Given the description of an element on the screen output the (x, y) to click on. 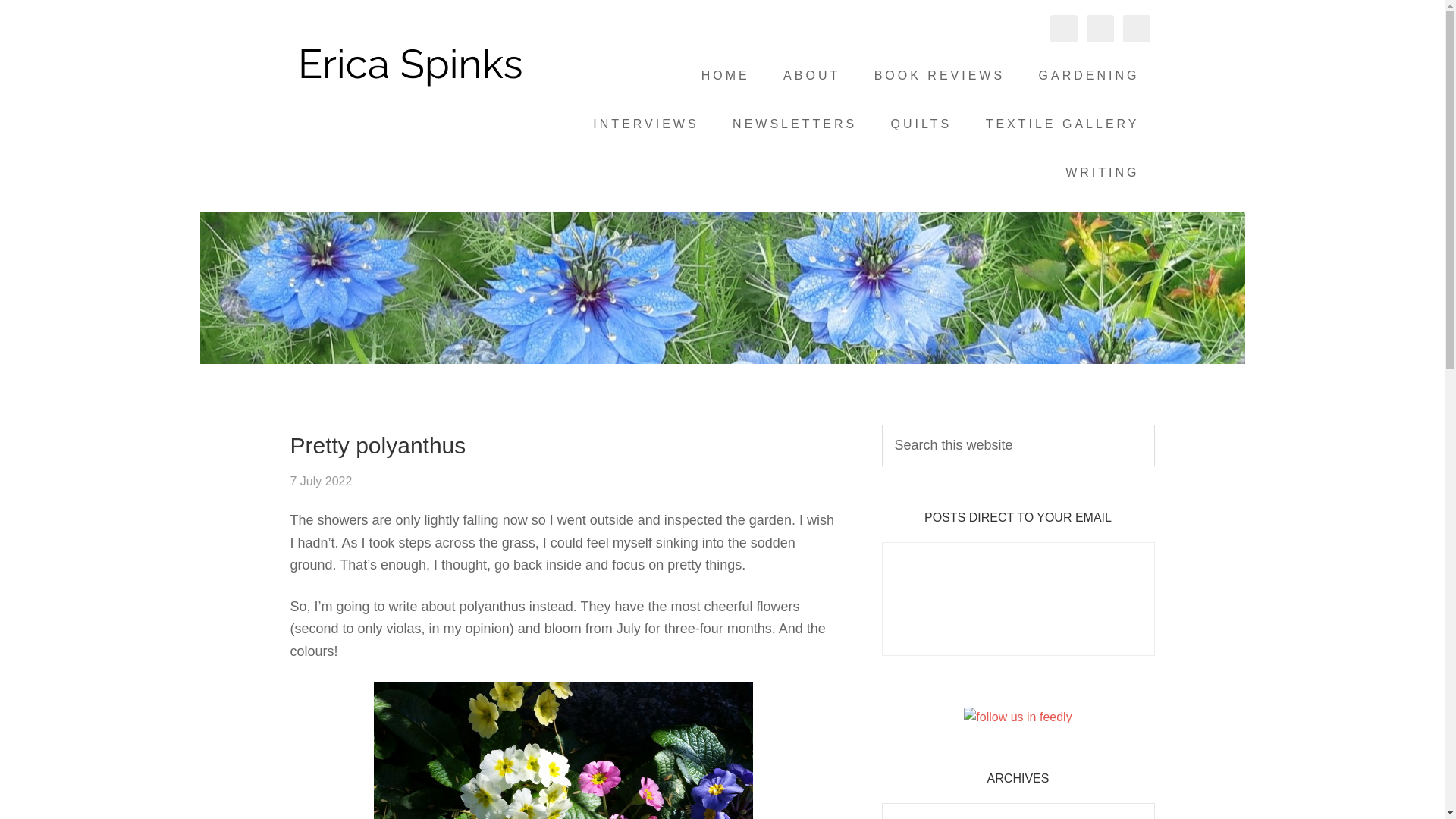
QUILTS (922, 123)
NEWSLETTERS (794, 123)
Erica Spinks (410, 67)
HOME (725, 75)
GARDENING (1088, 75)
INTERVIEWS (645, 123)
ABOUT (812, 75)
WRITING (1101, 172)
BOOK REVIEWS (939, 75)
TEXTILE GALLERY (1062, 123)
